Given the description of an element on the screen output the (x, y) to click on. 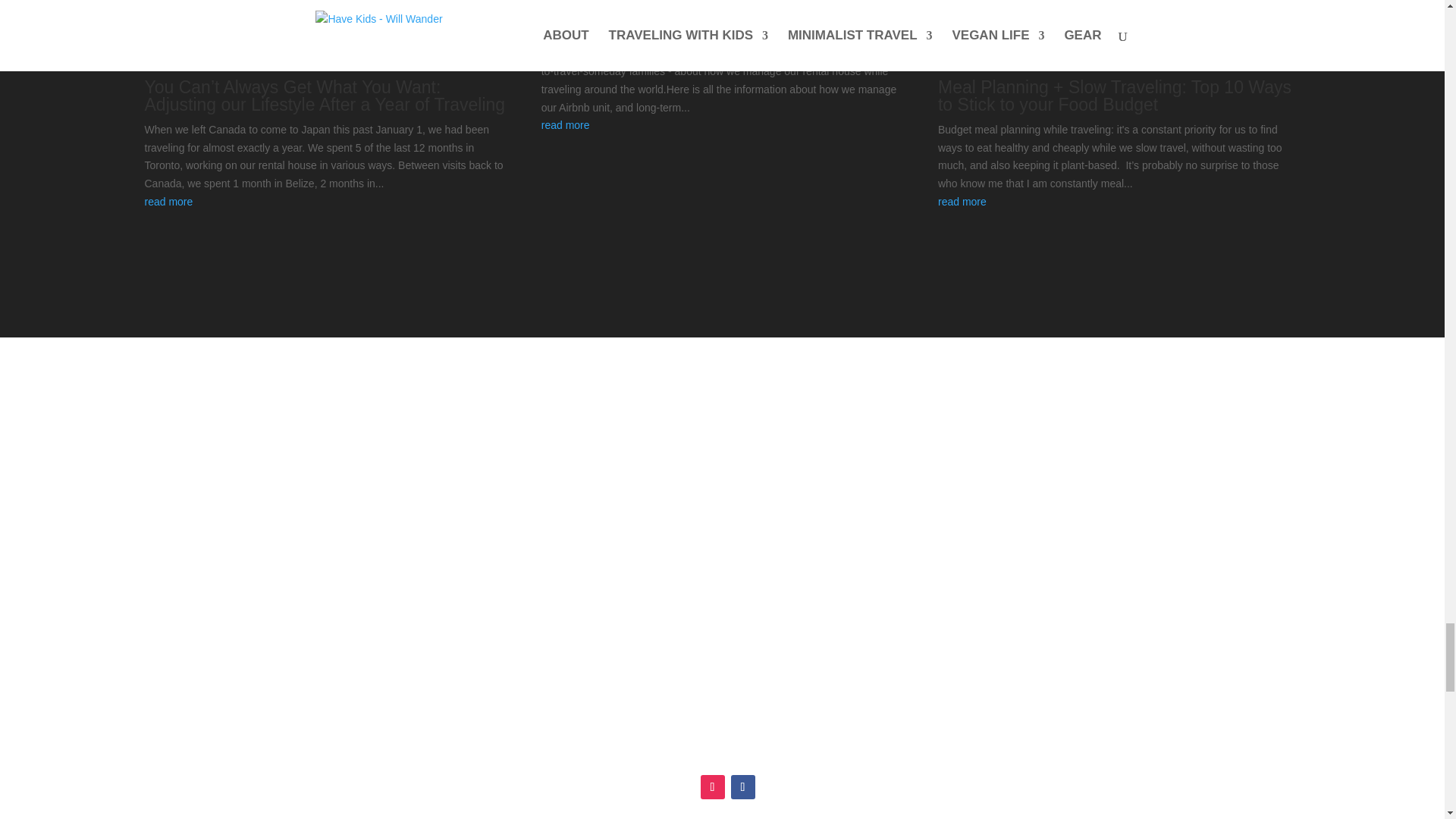
read more (722, 126)
read more (325, 202)
How We Manage Our Airbnb While Traveling (713, 27)
read more (1118, 202)
